Given the description of an element on the screen output the (x, y) to click on. 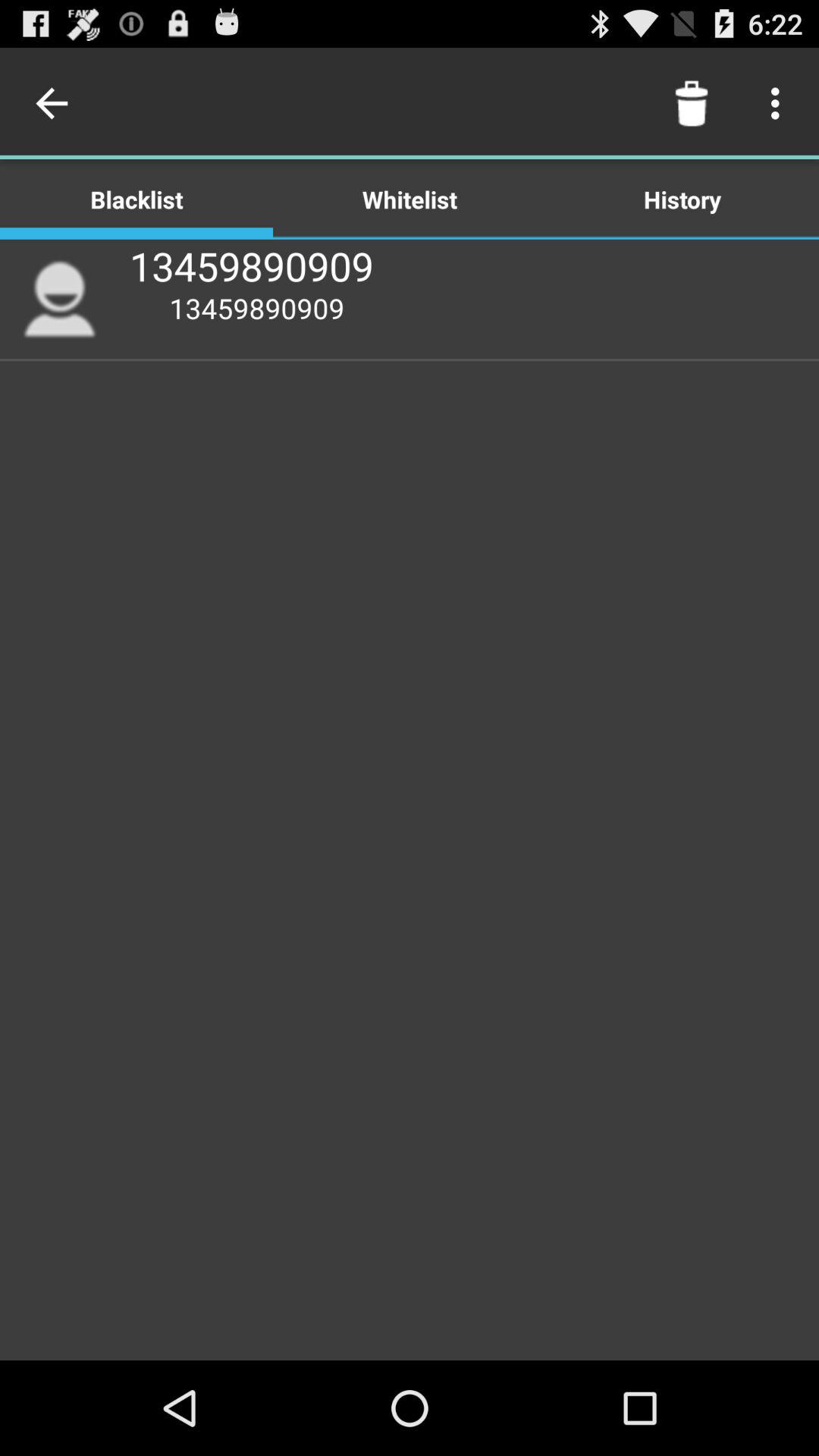
select the item next to the whitelist icon (55, 103)
